Given the description of an element on the screen output the (x, y) to click on. 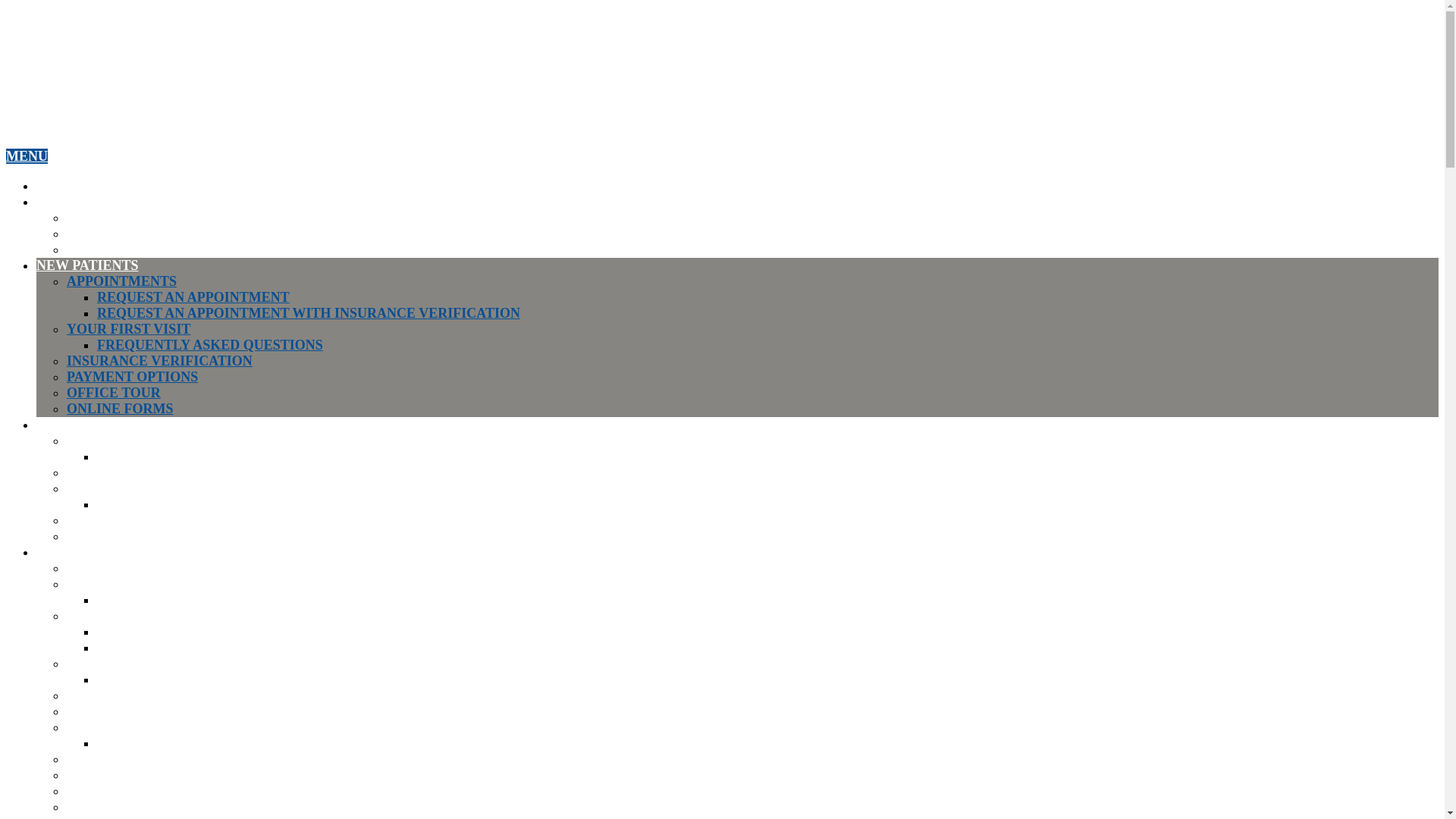
APPOINTMENTS (121, 281)
OFFICE TOUR (113, 392)
ANXIETY FAQ (143, 599)
ACUPUNCTURE FAQ (164, 456)
ANXIETY (97, 583)
SUPPLEMENTS (116, 535)
OUR MISSION (113, 233)
OUR HISTORY (114, 217)
PAYMENT OPTIONS (132, 376)
SERVICES (69, 424)
REQUEST AN APPOINTMENT (193, 296)
ONLINE FORMS (119, 408)
YOUR FIRST VISIT (128, 328)
NEW PATIENTS (87, 264)
HEAT THERAPY (120, 519)
